Given the description of an element on the screen output the (x, y) to click on. 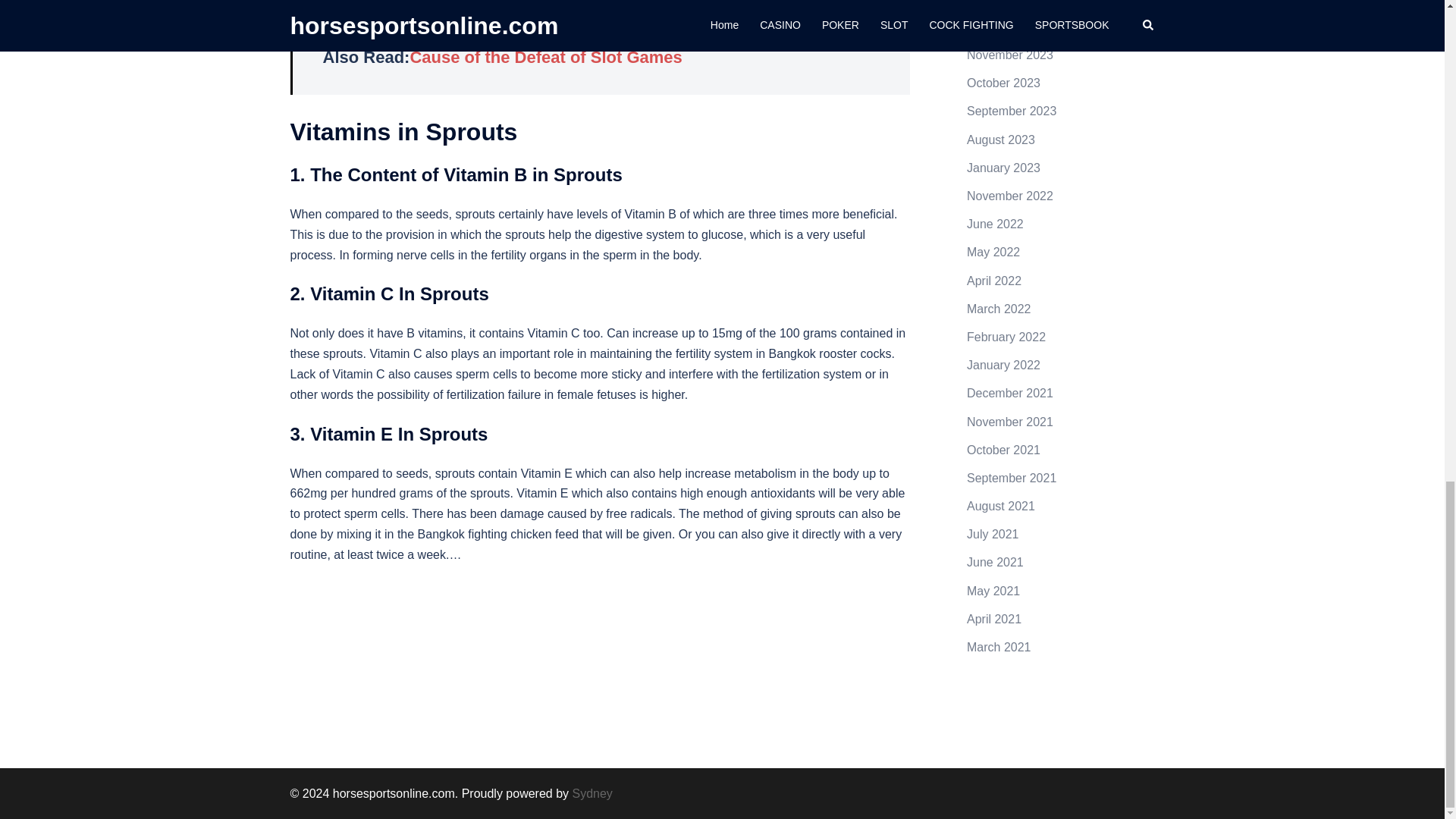
Cause of the Defeat of Slot Games (545, 56)
